Given the description of an element on the screen output the (x, y) to click on. 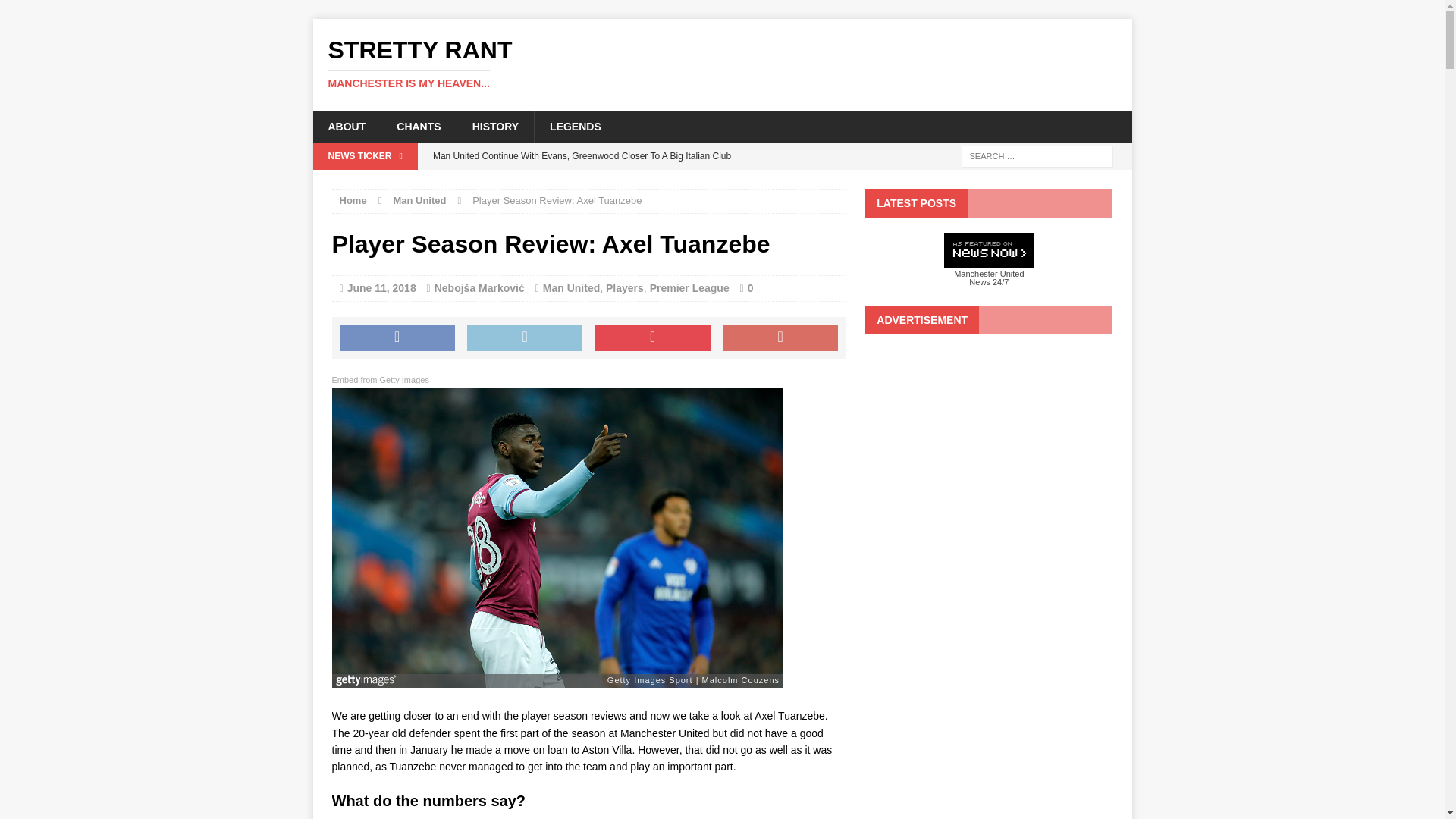
Search (37, 11)
Home (352, 200)
Premier League (689, 287)
Stretty Rant (722, 64)
Players (624, 287)
Pin This Post (652, 338)
Share on Facebook (396, 338)
Man United (419, 200)
HISTORY (495, 126)
June 11, 2018 (381, 287)
ABOUT (346, 126)
